Given the description of an element on the screen output the (x, y) to click on. 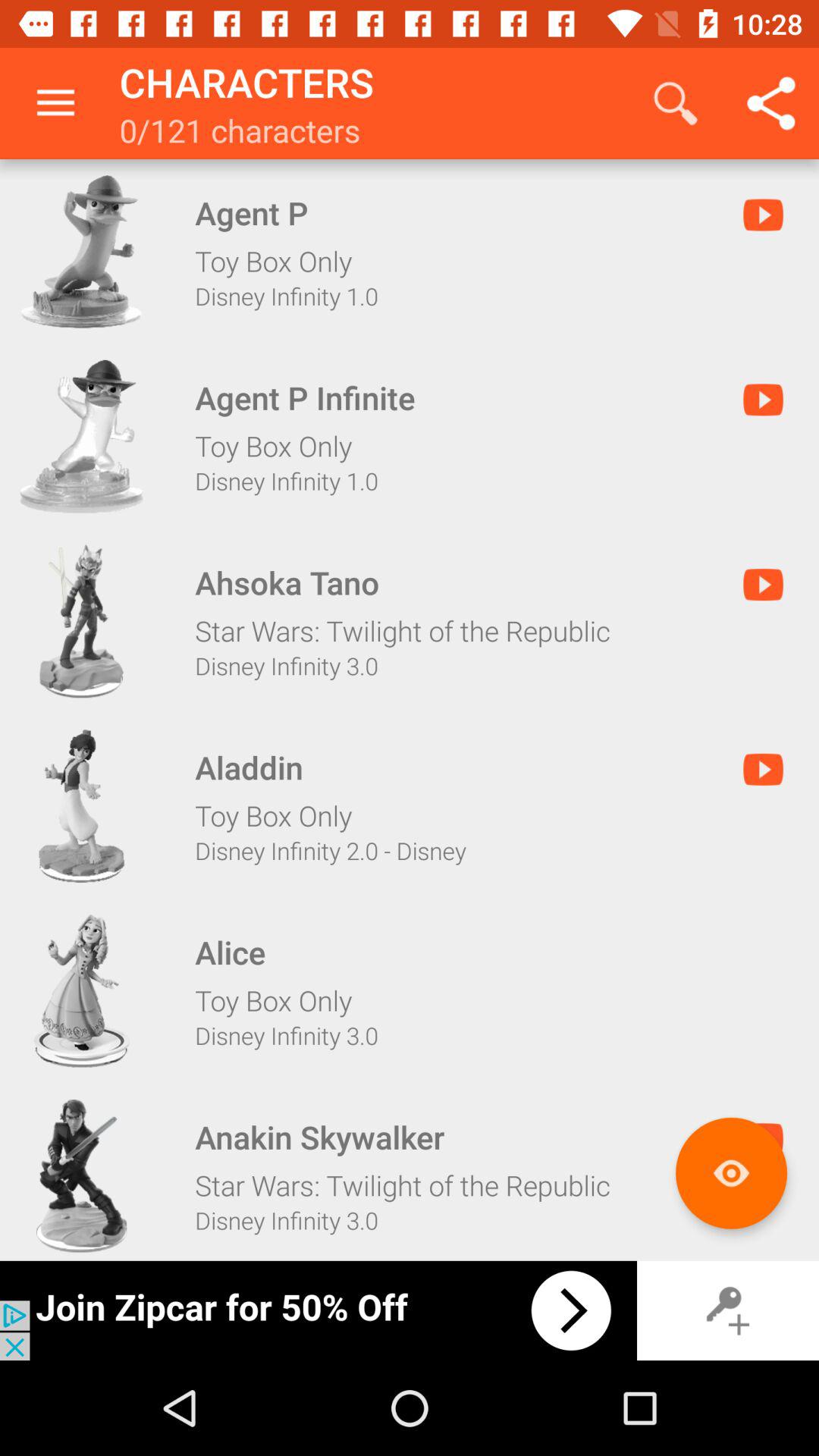
select character (81, 1175)
